Given the description of an element on the screen output the (x, y) to click on. 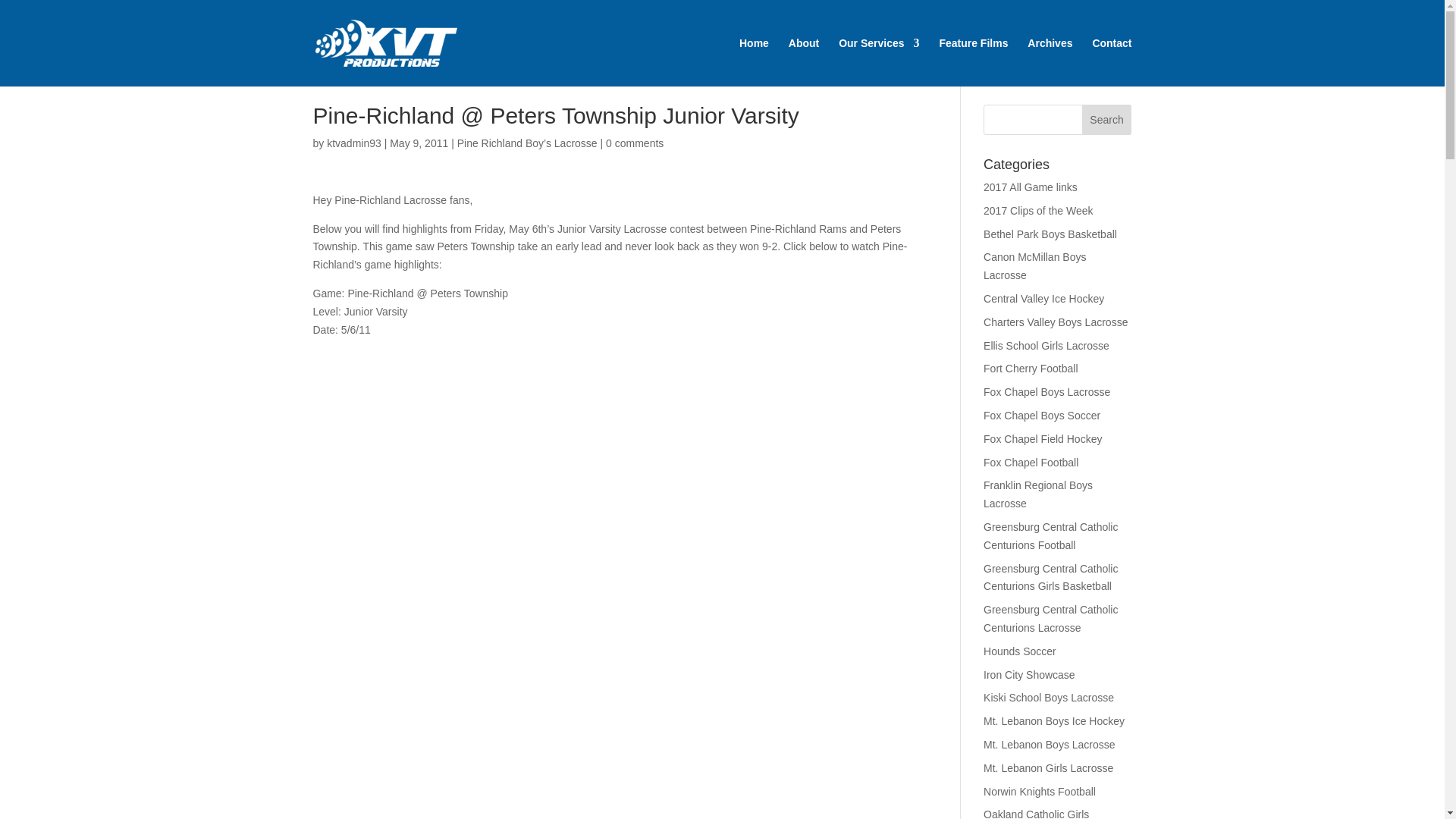
Central Valley Ice Hockey (1043, 298)
2017 Clips of the Week (1038, 210)
Search (1106, 119)
Bethel Park Boys Basketball (1050, 234)
Our Services (878, 61)
2017 All Game links (1030, 186)
Fox Chapel Boys Lacrosse (1046, 391)
Feature Films (973, 61)
Charters Valley Boys Lacrosse (1055, 322)
Fox Chapel Boys Soccer (1042, 415)
ktvadmin93 (353, 143)
Fox Chapel Field Hockey (1043, 439)
Search (1106, 119)
Fort Cherry Football (1030, 368)
Archives (1049, 61)
